Given the description of an element on the screen output the (x, y) to click on. 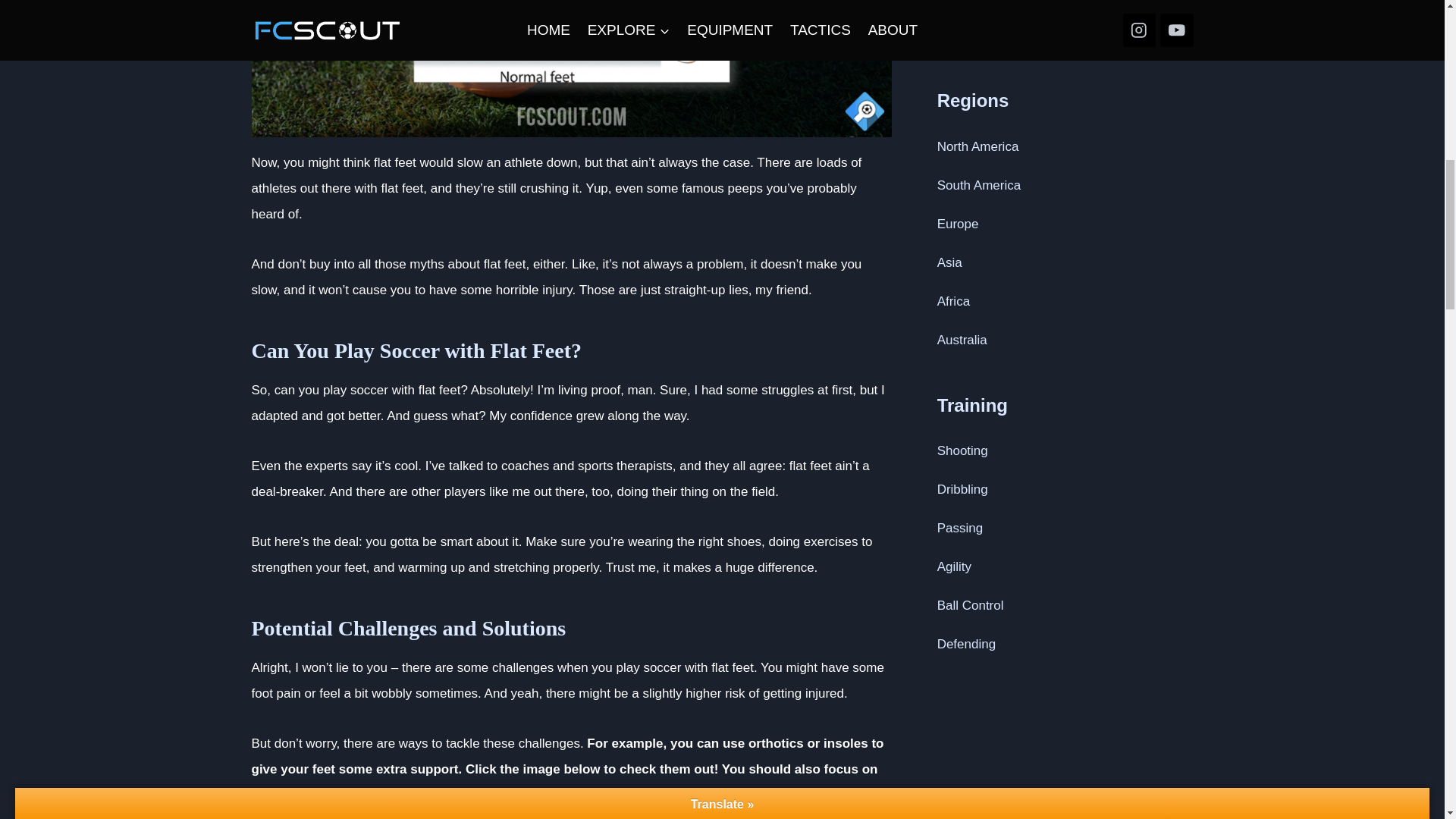
Asia (949, 262)
South America (979, 185)
Africa (953, 301)
Subscribe (971, 31)
Europe (957, 223)
Australia (962, 339)
Subscribe (971, 31)
North America (978, 146)
